Given the description of an element on the screen output the (x, y) to click on. 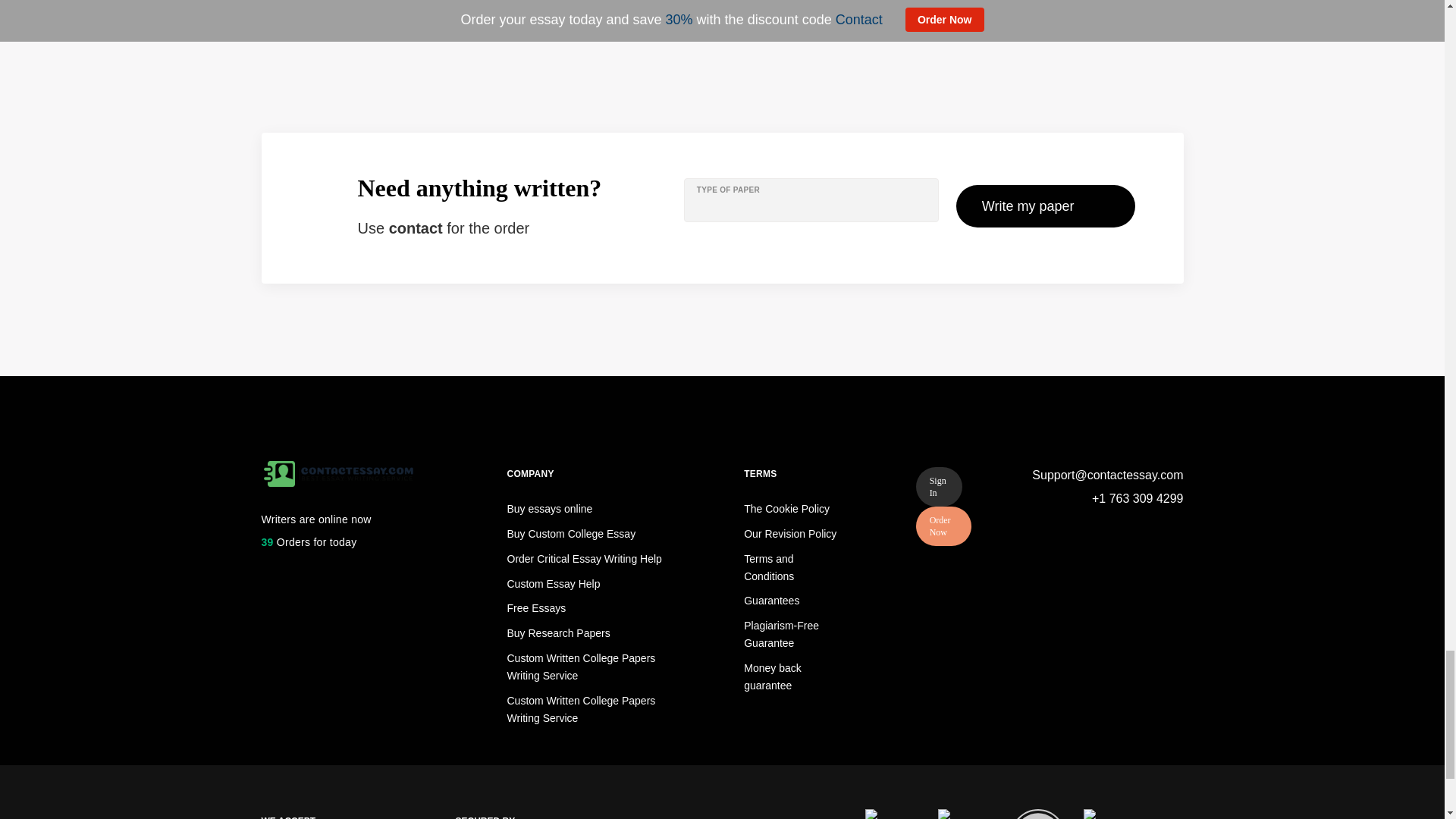
Money back guarantee (772, 676)
Buy essays online (549, 508)
Free Essays (536, 607)
Order Critical Essay Writing Help (583, 558)
Write my paper (1045, 206)
Sign In (938, 486)
Custom Written College Papers Writing Service (580, 666)
Terms and Conditions (768, 567)
Write my paper (1045, 206)
Order Now (943, 526)
